Given the description of an element on the screen output the (x, y) to click on. 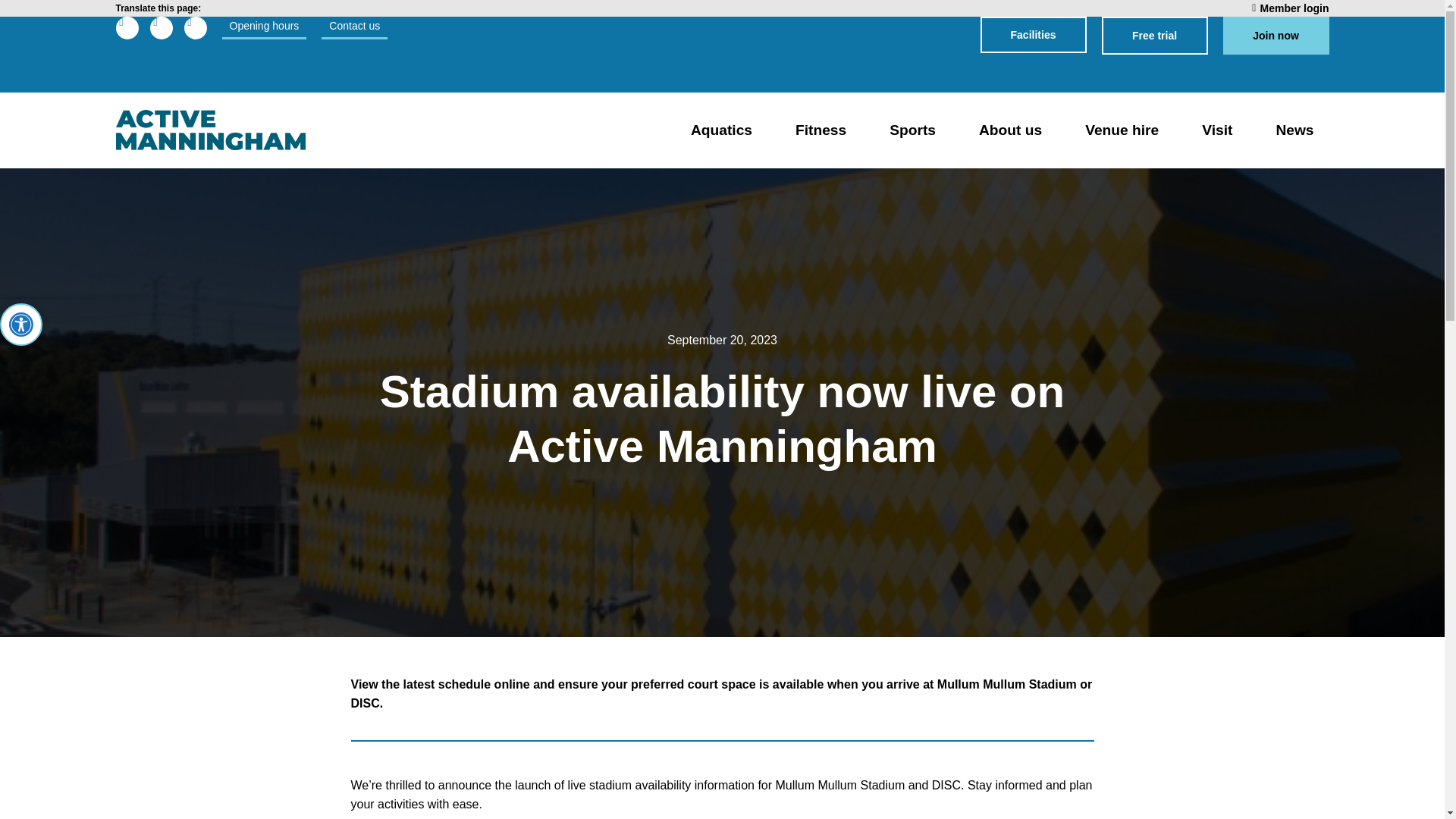
Accessibility Tools (20, 324)
Join now (1275, 35)
Fitness (820, 130)
Aquatics (721, 130)
Facilities (1033, 34)
Sports (912, 130)
Contact us (354, 27)
Accessibility Tools (21, 324)
Opening hours (263, 27)
Member login (1289, 8)
Free trial (1153, 35)
